Given the description of an element on the screen output the (x, y) to click on. 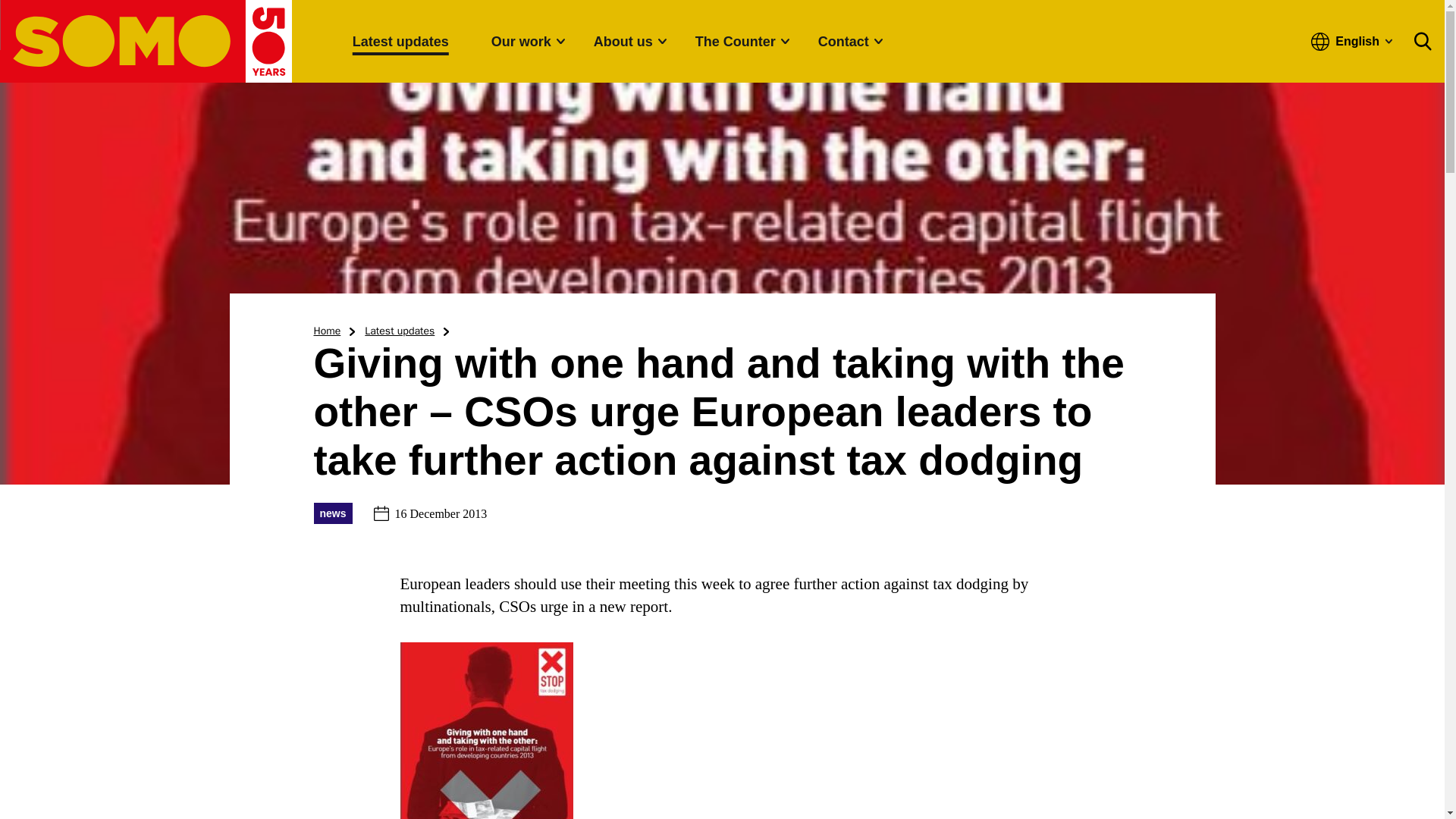
About us (623, 41)
Our work (521, 41)
Latest updates (400, 41)
